Given the description of an element on the screen output the (x, y) to click on. 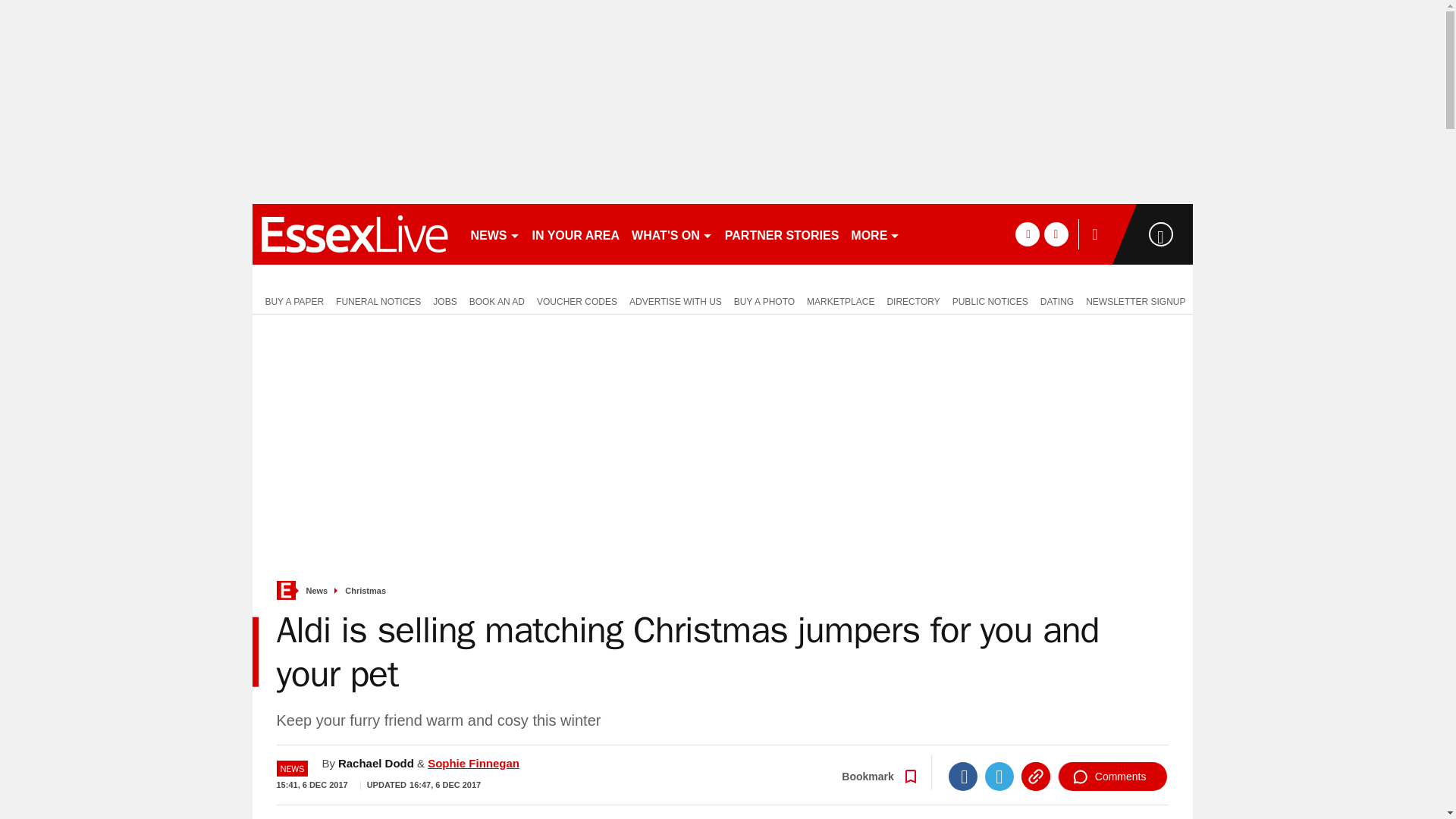
MORE (874, 233)
Comments (1112, 776)
IN YOUR AREA (575, 233)
facebook (1026, 233)
PARTNER STORIES (782, 233)
Twitter (999, 776)
essexlive (354, 233)
twitter (1055, 233)
WHAT'S ON (672, 233)
NEWS (494, 233)
